Given the description of an element on the screen output the (x, y) to click on. 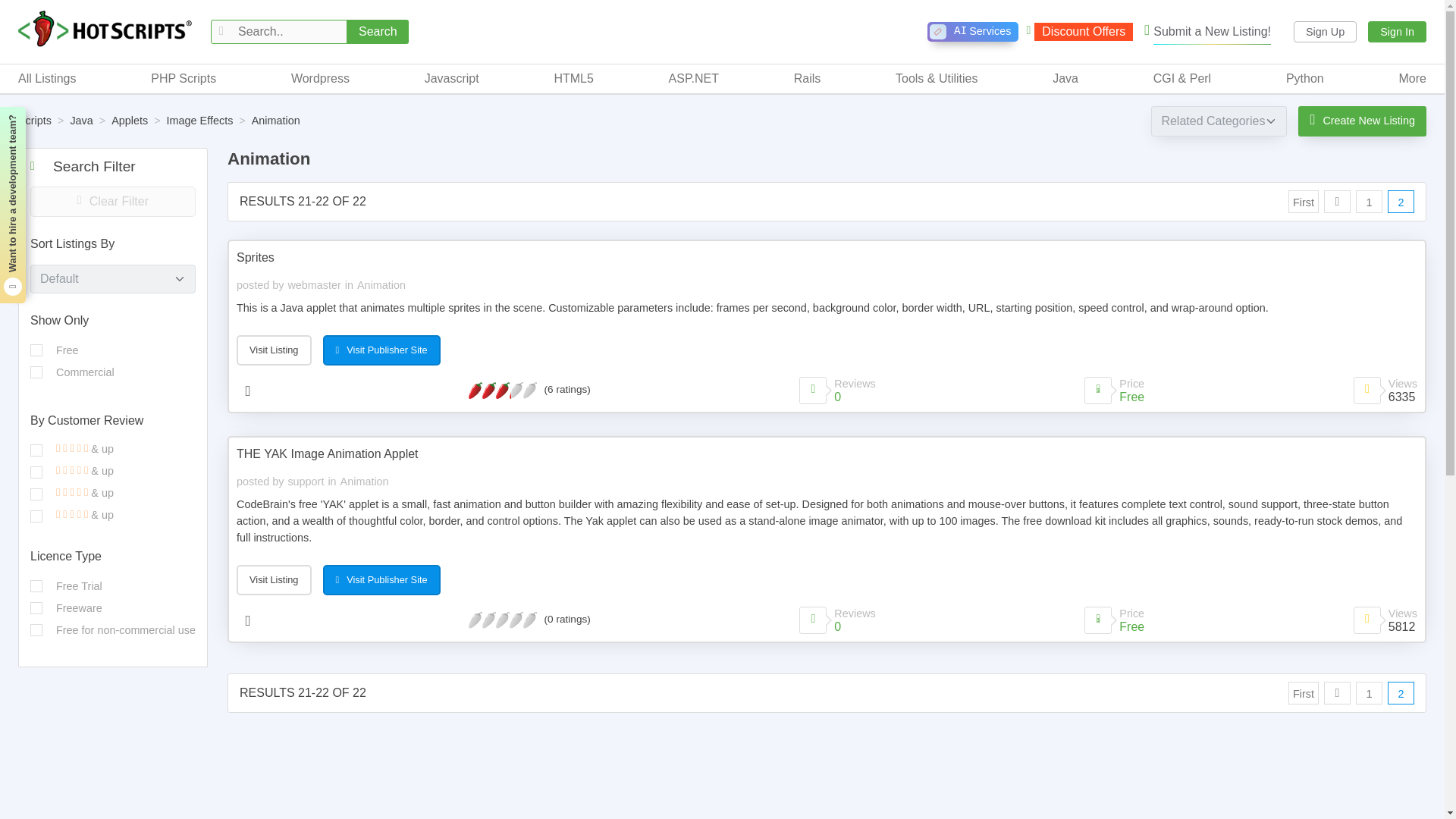
Submit a New Listing! (1207, 31)
Discount Offers (1079, 31)
2 (36, 494)
0 (36, 349)
3 (36, 472)
Search (378, 31)
PHP Scripts (183, 78)
Sign In (1397, 31)
Free Non-Commercial (36, 630)
4 (36, 450)
HotScripts (104, 29)
Free Trial (36, 585)
1 (36, 372)
All Listings (46, 78)
1 (36, 516)
